Given the description of an element on the screen output the (x, y) to click on. 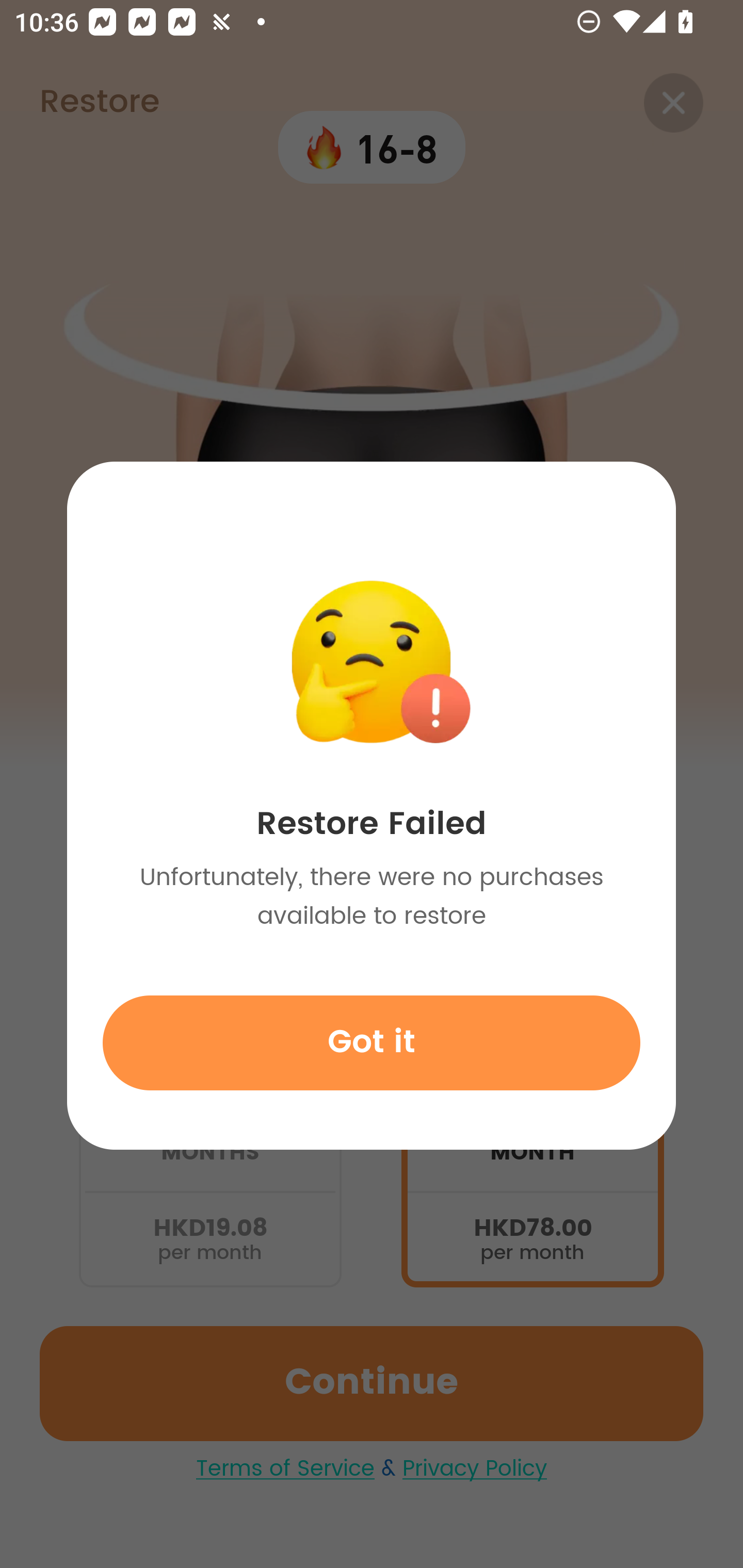
Got it (371, 1042)
